Given the description of an element on the screen output the (x, y) to click on. 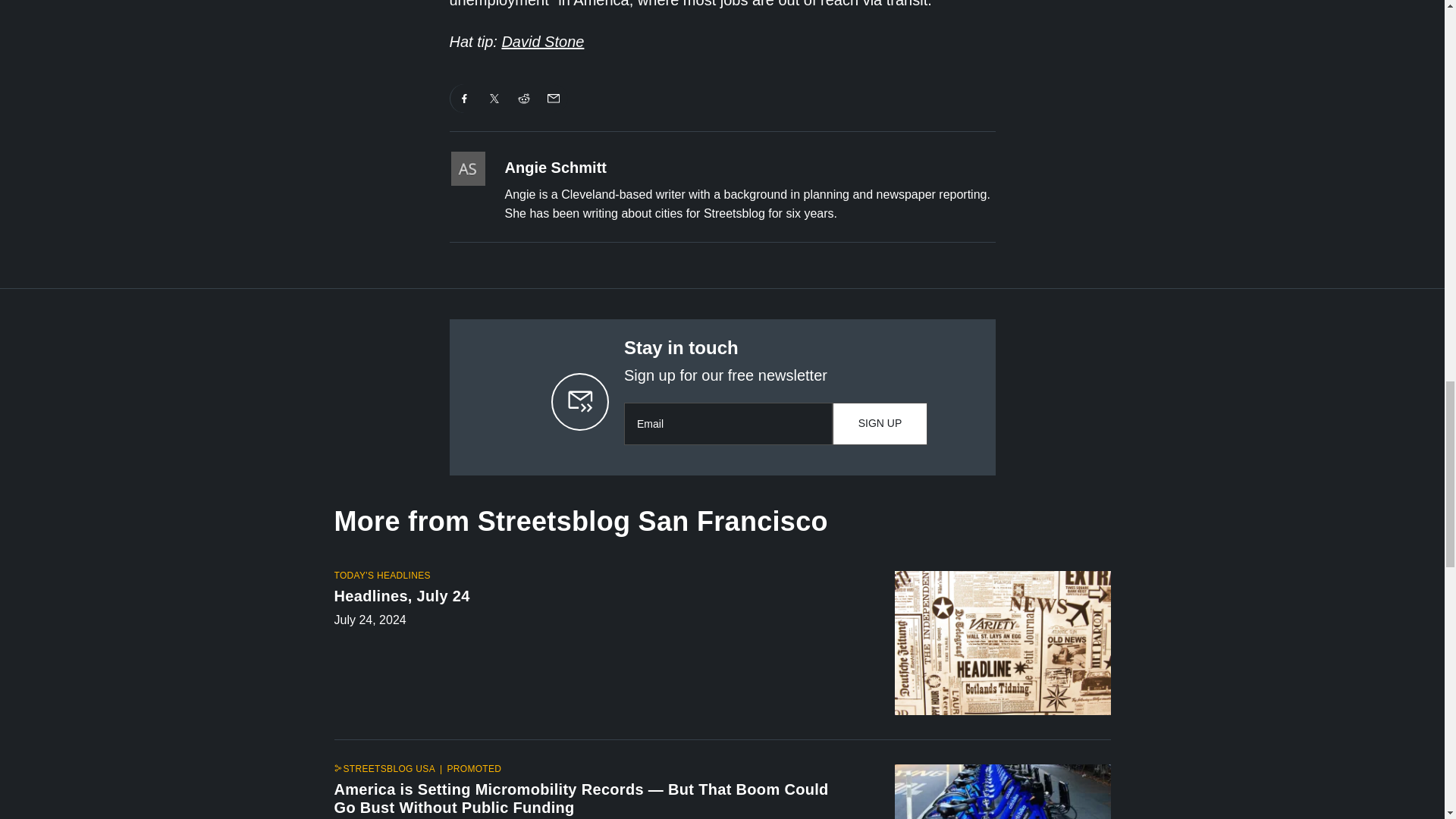
David Stone (541, 41)
Share on Reddit (523, 98)
Share on Email (552, 98)
Share on Facebook (464, 98)
